Given the description of an element on the screen output the (x, y) to click on. 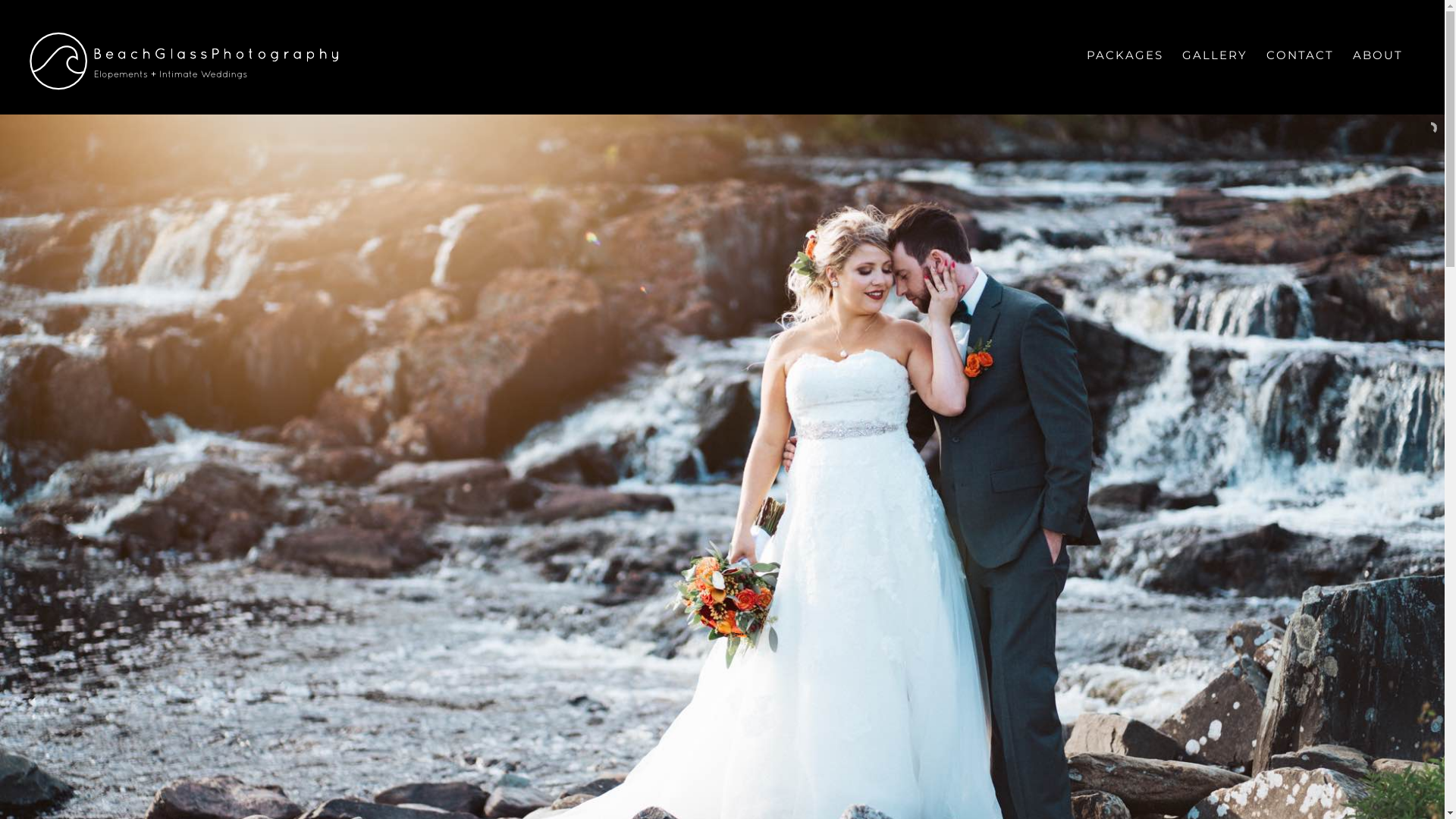
ABOUT Element type: text (1377, 54)
PACKAGES Element type: text (1124, 54)
GALLERY Element type: text (1214, 54)
CONTACT Element type: text (1299, 54)
